Given the description of an element on the screen output the (x, y) to click on. 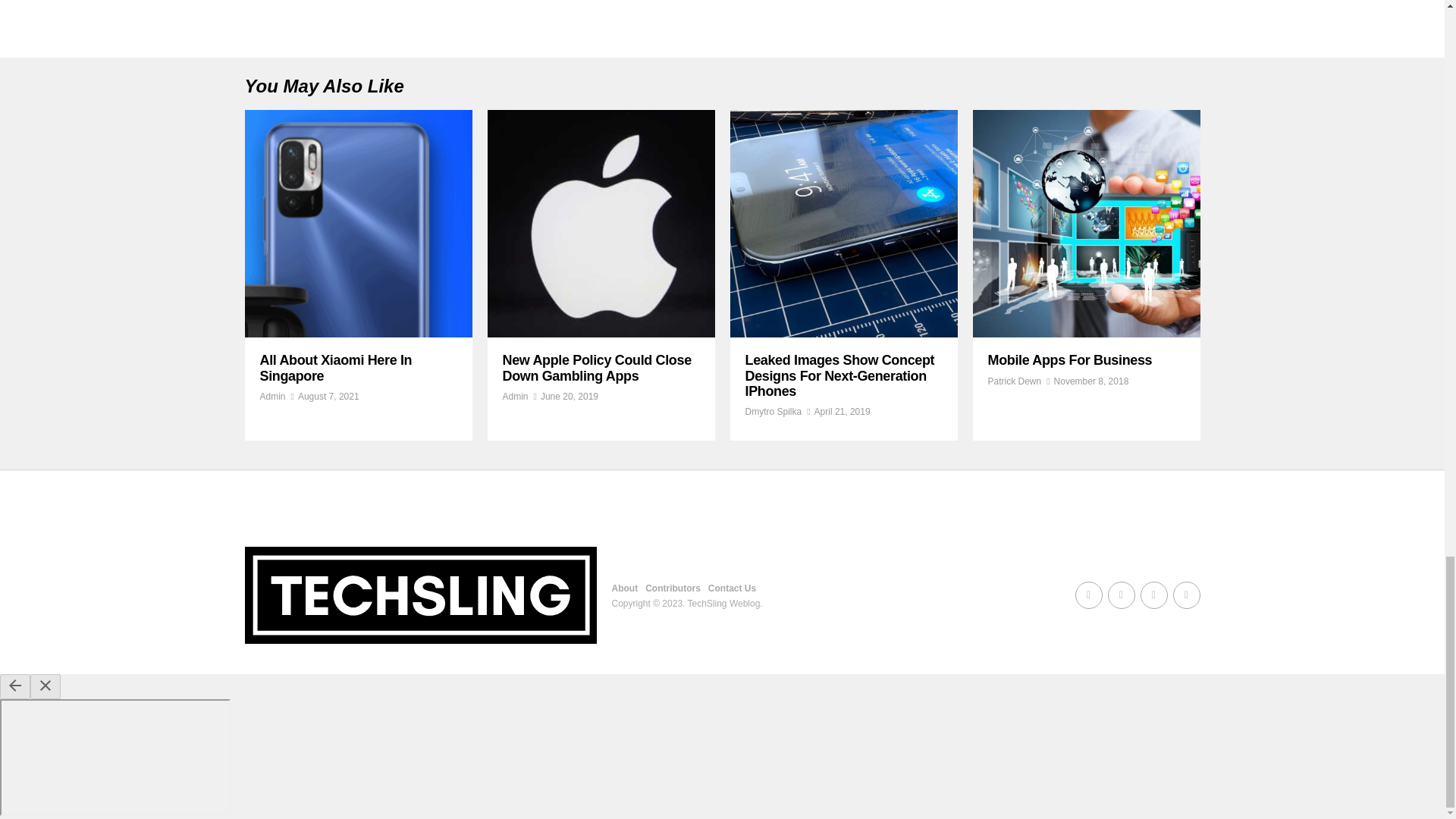
Posts by Admin (514, 396)
Posts by Admin (272, 396)
Posts by Dmytro Spilka (773, 411)
